Given the description of an element on the screen output the (x, y) to click on. 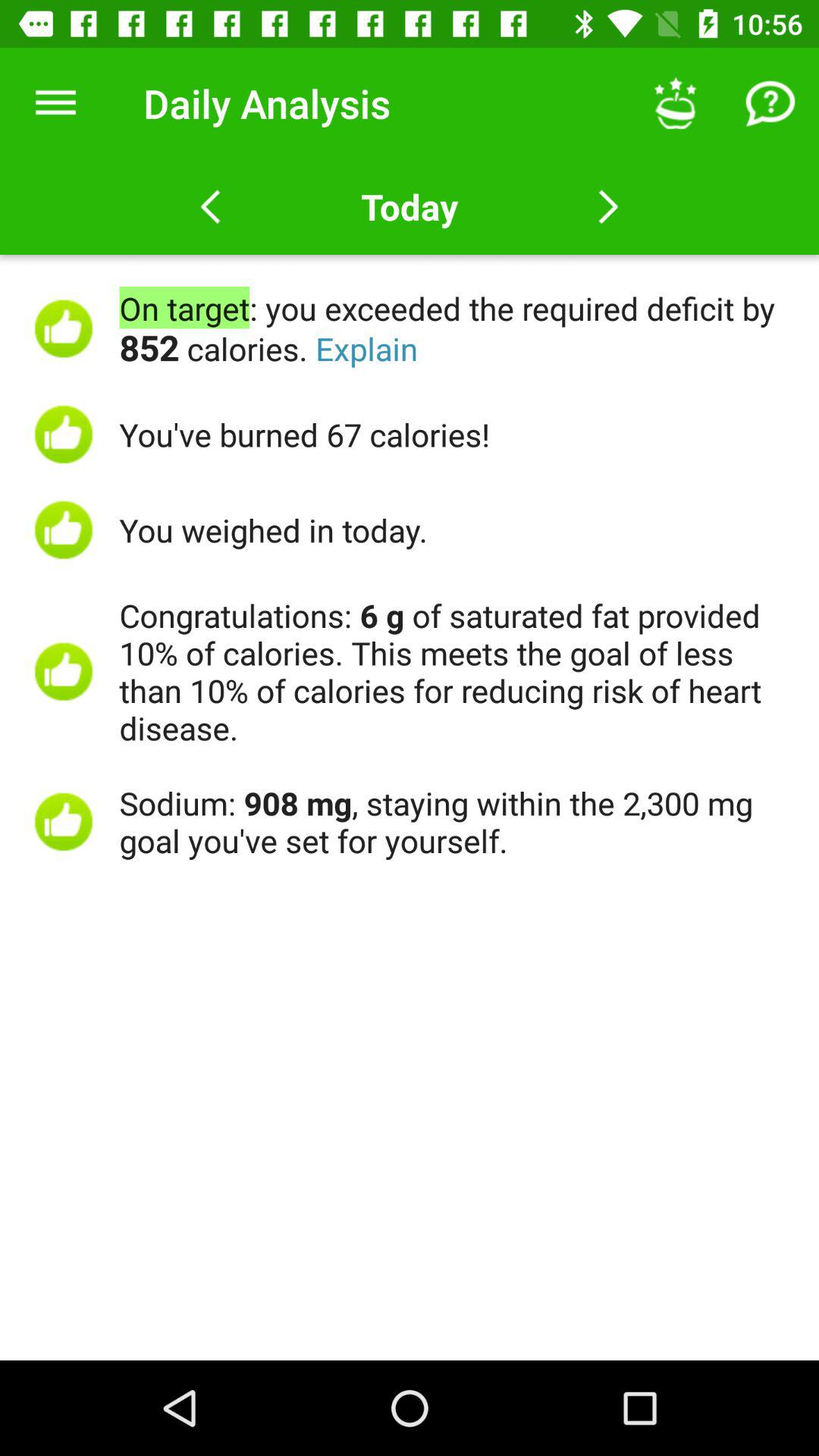
press icon above on target you (55, 103)
